Given the description of an element on the screen output the (x, y) to click on. 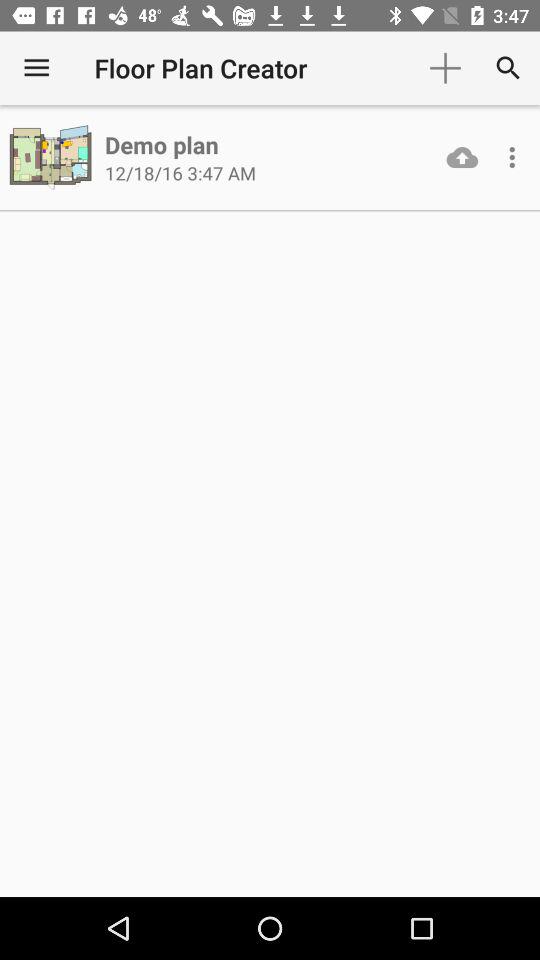
scroll until 12 18 16 icon (180, 172)
